Given the description of an element on the screen output the (x, y) to click on. 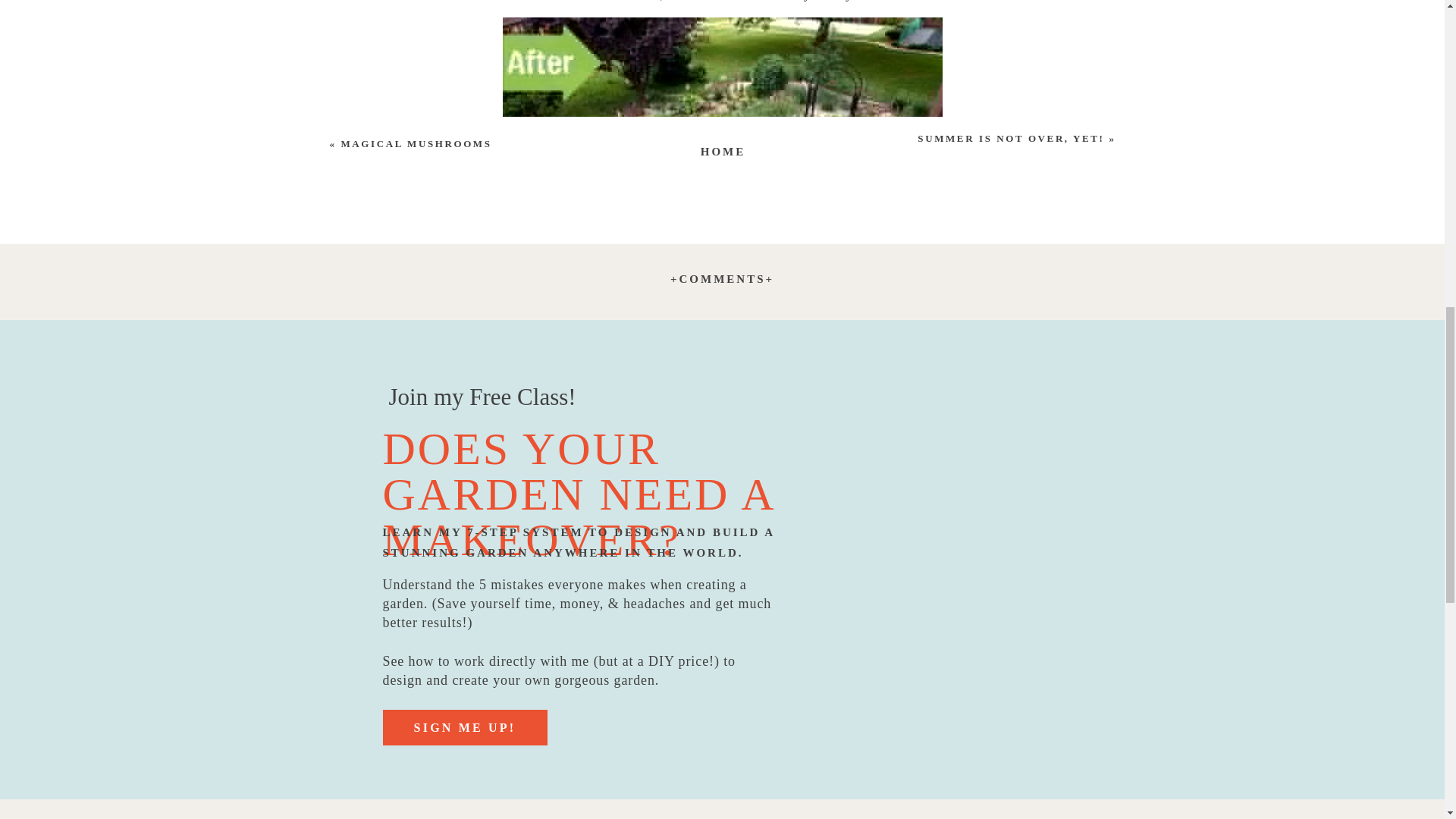
HOME (723, 149)
SUMMER IS NOT OVER, YET! (1010, 138)
SIGN ME UP! (464, 731)
MAGICAL MUSHROOMS (416, 143)
